Given the description of an element on the screen output the (x, y) to click on. 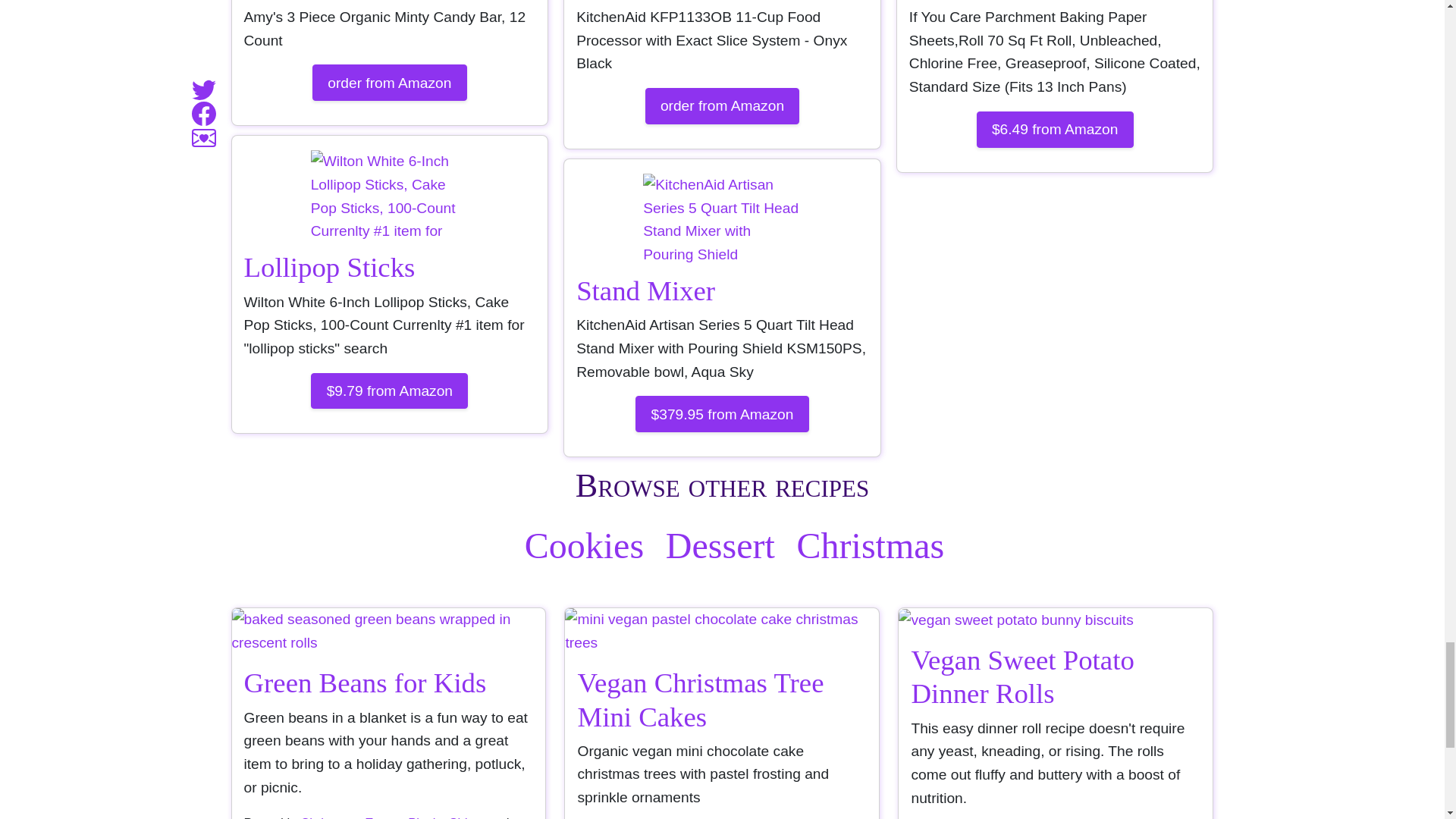
order from Amazon (390, 82)
Lollipop Sticks (329, 266)
order from Amazon (722, 105)
